Given the description of an element on the screen output the (x, y) to click on. 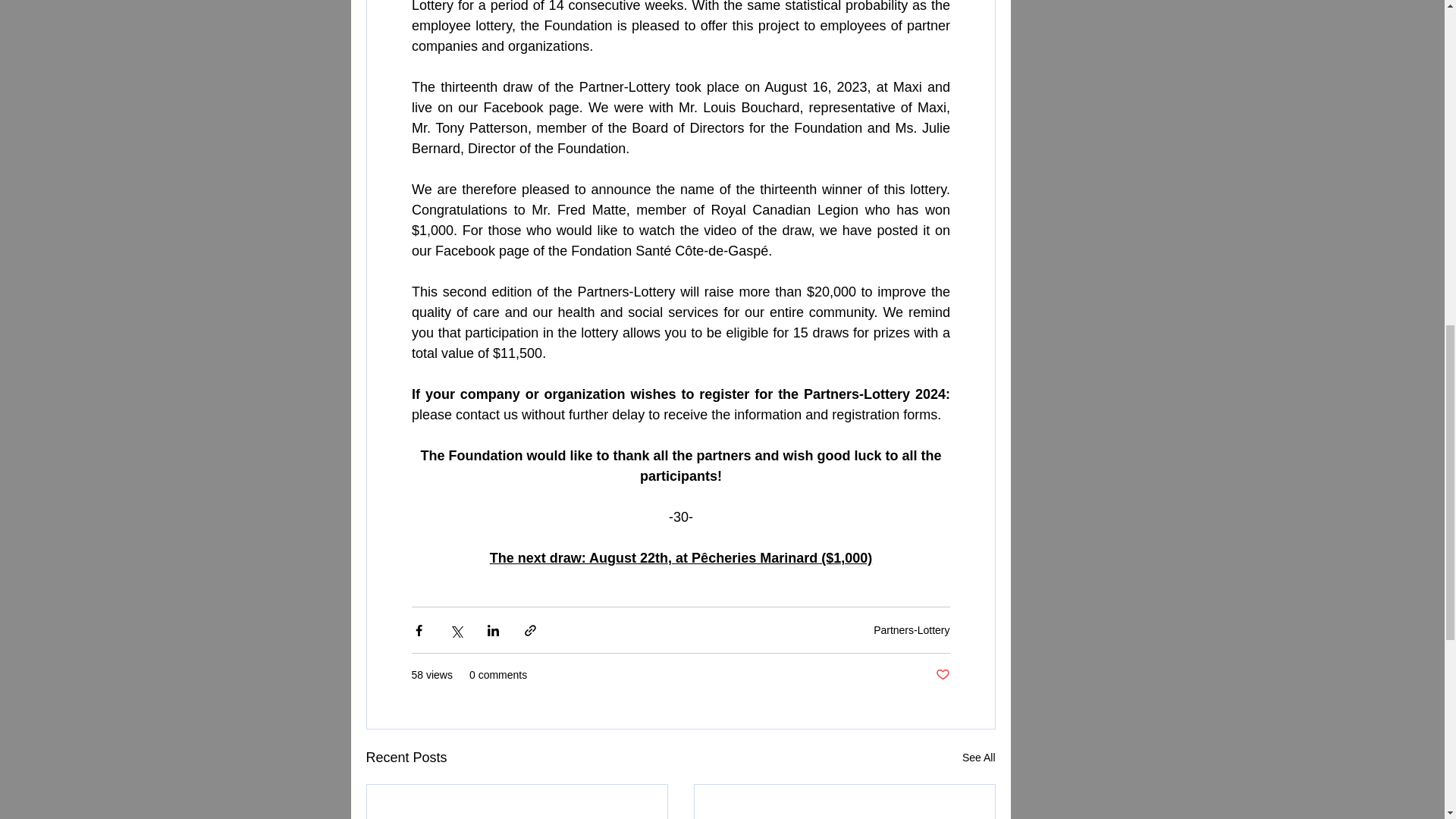
See All (978, 757)
Post not marked as liked (943, 675)
Partners-Lottery (911, 630)
